Given the description of an element on the screen output the (x, y) to click on. 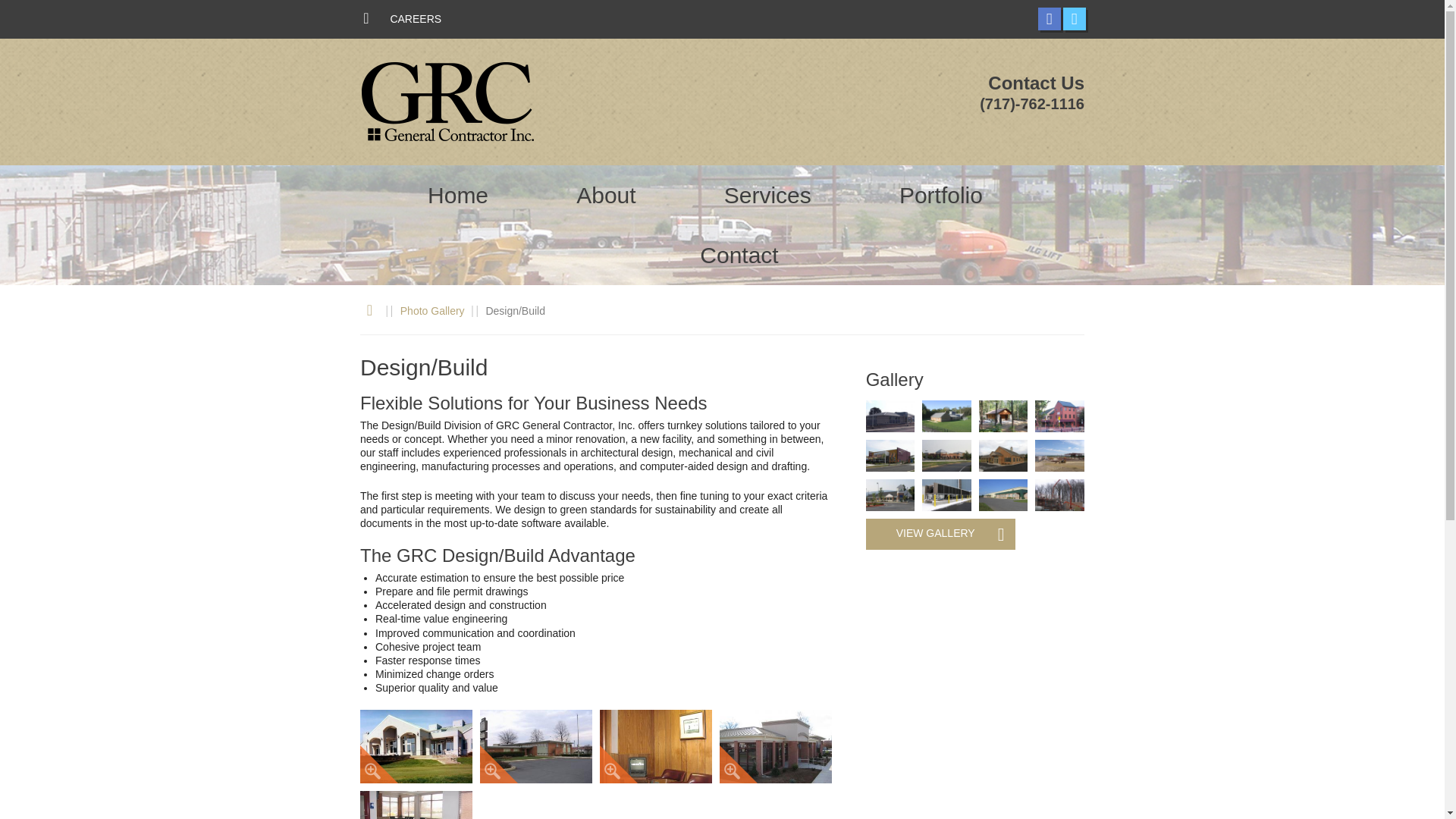
Home (368, 311)
CAREERS (415, 19)
HOME (365, 19)
Portfolio (940, 195)
Photo Gallery (432, 310)
FACEBOOK (1047, 18)
Home (458, 195)
Contact (739, 255)
TWITTER (1074, 18)
GRC General Contractor Inc. (447, 101)
About (606, 195)
Services (767, 195)
